Given the description of an element on the screen output the (x, y) to click on. 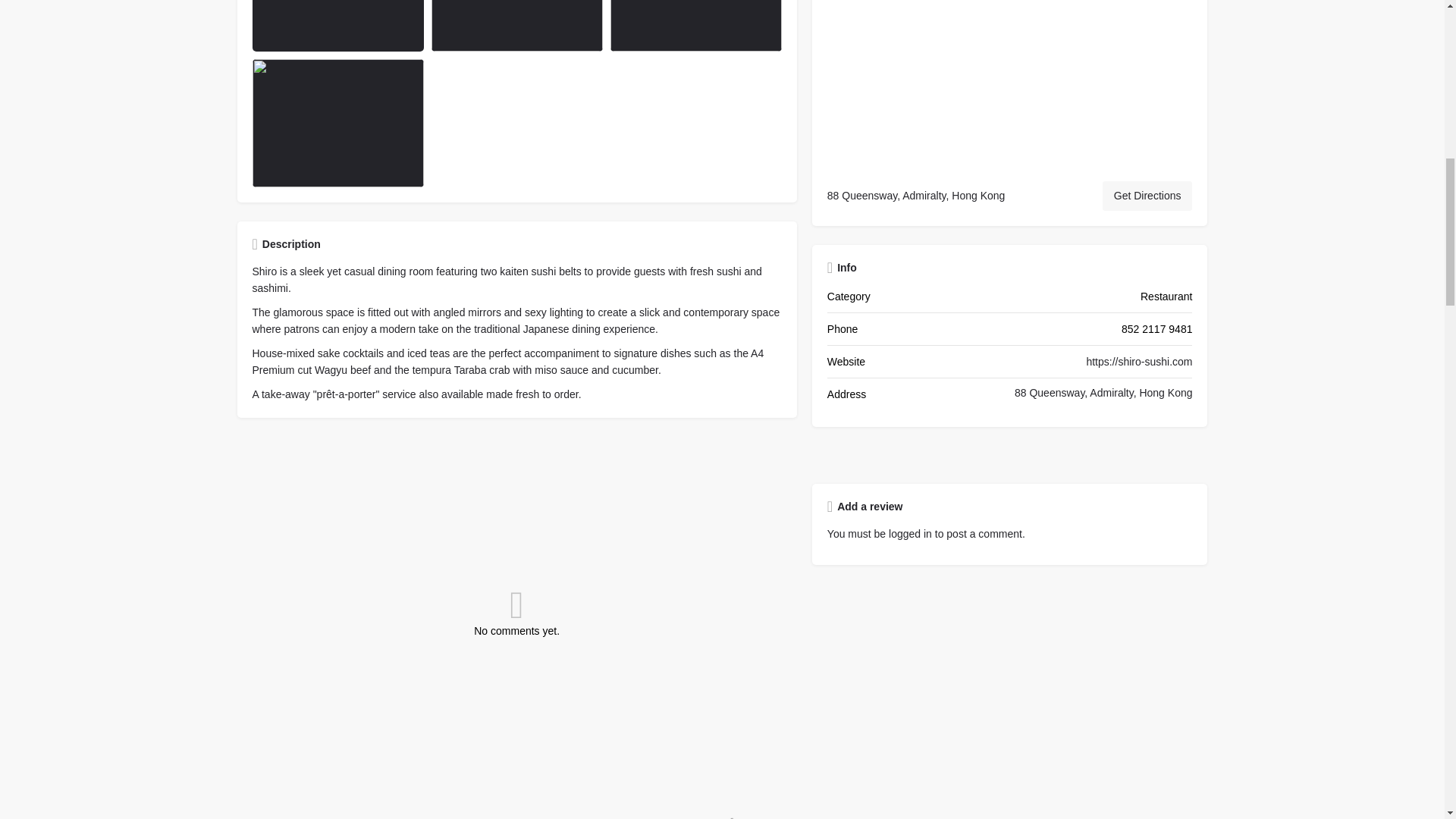
shiro5.png (337, 123)
shiro1.png (337, 25)
shiro7.png (695, 25)
shiro4.png (516, 25)
